Given the description of an element on the screen output the (x, y) to click on. 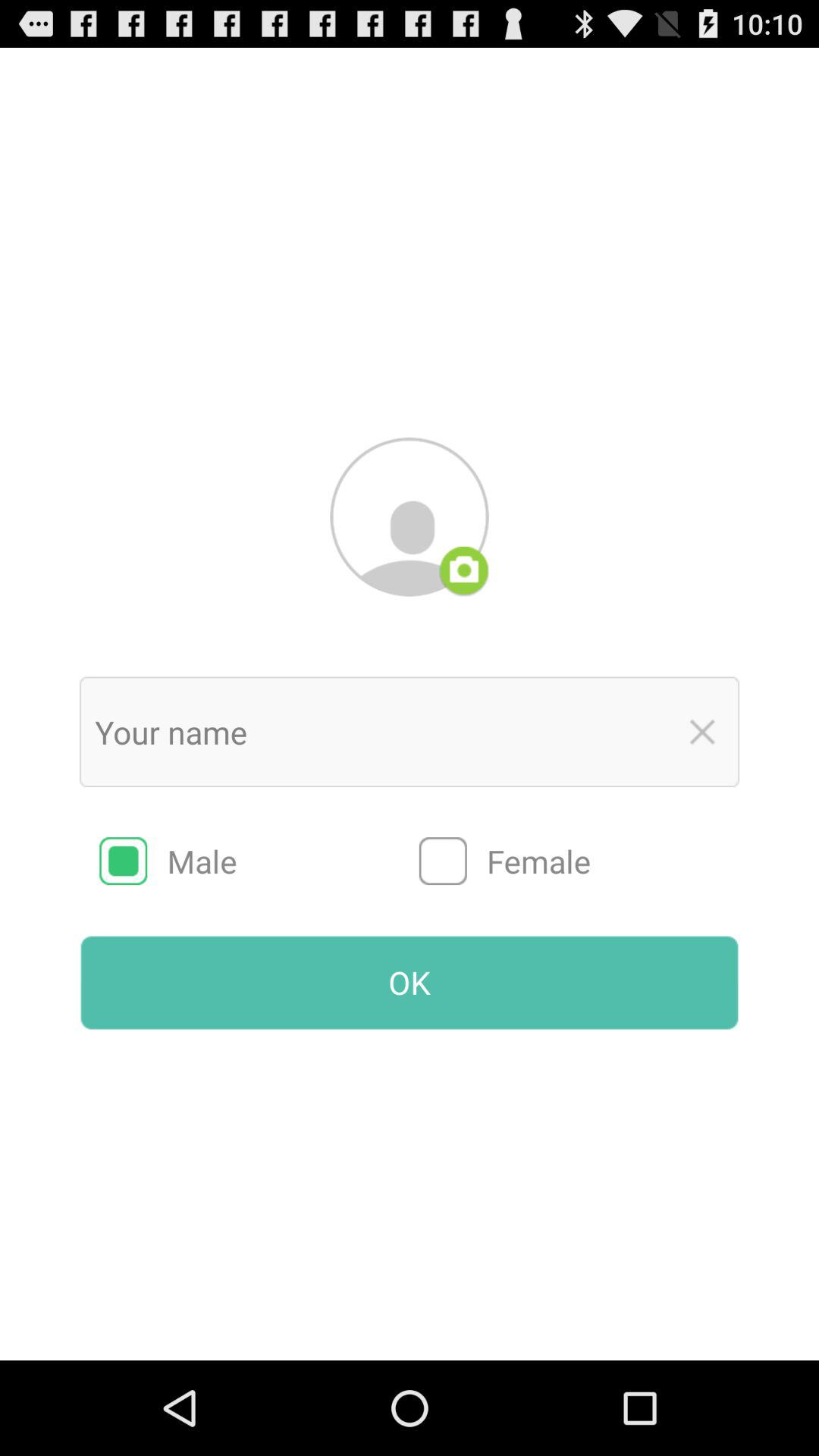
enter name field (377, 731)
